Given the description of an element on the screen output the (x, y) to click on. 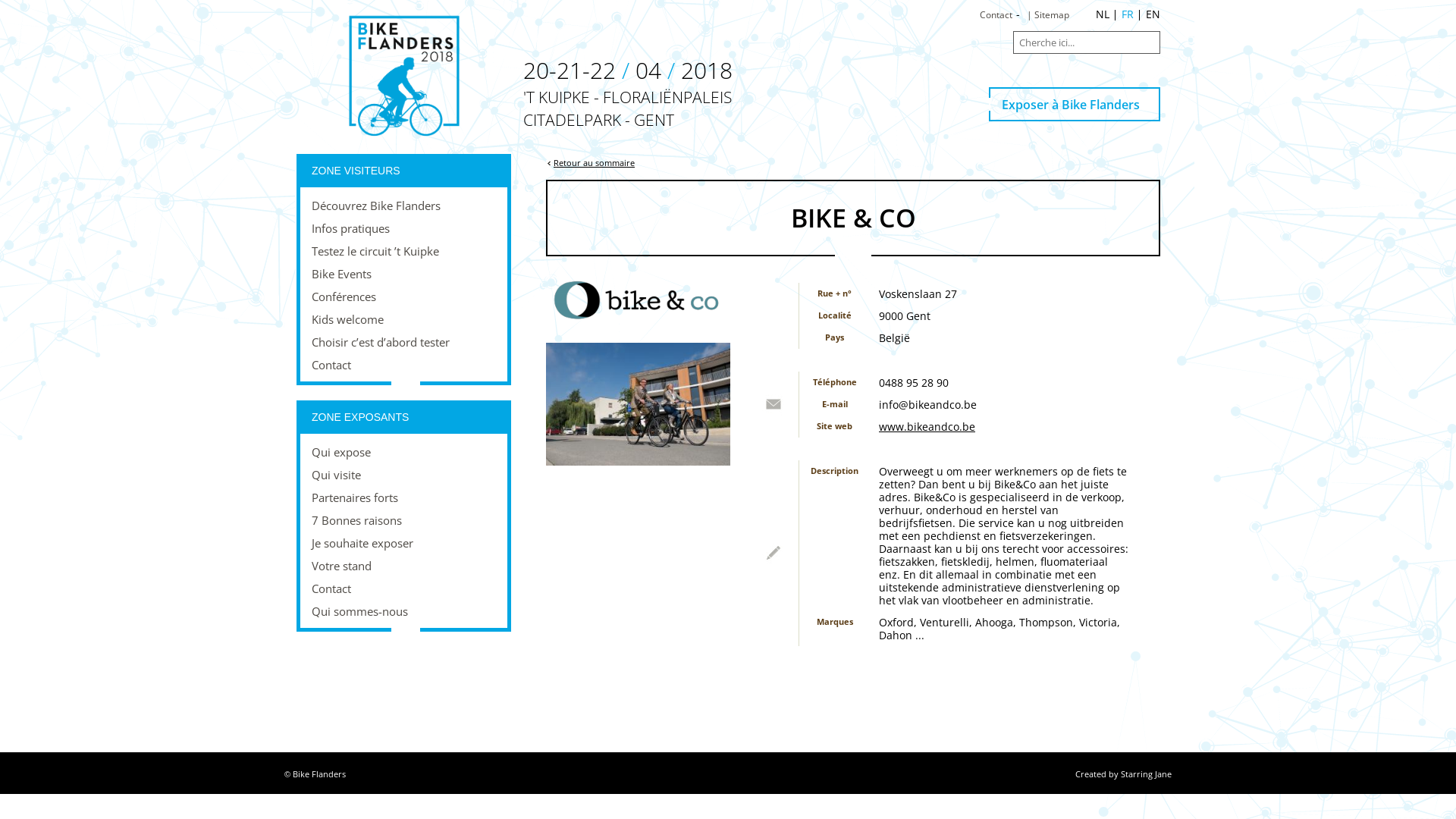
Qui expose Element type: text (403, 451)
Bike Events Element type: text (403, 273)
Created by Starring Jane Element type: text (1123, 773)
www.bikeandco.be Element type: text (926, 426)
NL Element type: text (1102, 14)
Retour au sommaire Element type: text (853, 162)
Contact Element type: text (403, 364)
FR Element type: text (1127, 14)
Qui sommes-nous Element type: text (403, 610)
Infos pratiques Element type: text (403, 227)
| Sitemap Element type: text (1047, 14)
Votre stand Element type: text (403, 565)
Partenaires forts Element type: text (403, 497)
Je souhaite exposer Element type: text (403, 542)
Bike Flanders Element type: text (318, 773)
Qui visite Element type: text (403, 474)
Contact Element type: text (995, 14)
Bike Flanders Element type: text (403, 74)
Kids welcome Element type: text (403, 318)
EN Element type: text (1152, 14)
Contact Element type: text (403, 588)
7 Bonnes raisons Element type: text (403, 519)
